Given the description of an element on the screen output the (x, y) to click on. 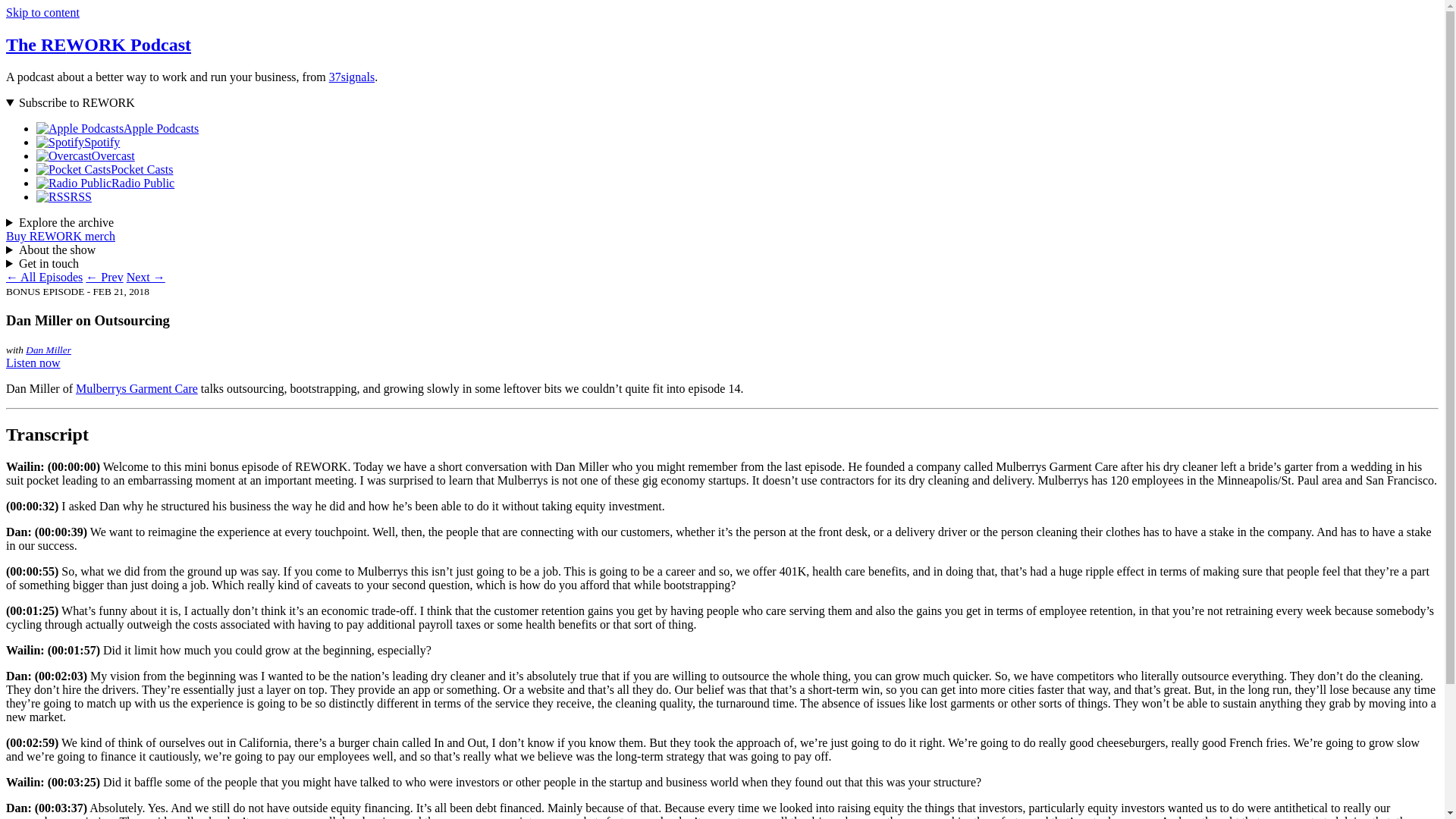
RSS (63, 196)
Spotify (77, 141)
Buy REWORK merch (60, 236)
Mulberrys Garment Care (136, 388)
The REWORK Podcast (97, 44)
Apple Podcasts (117, 128)
Overcast (85, 155)
Skip to content (42, 11)
Radio Public (105, 182)
Listen now (33, 362)
Pocket Casts (104, 169)
37signals (351, 76)
Dan Miller (48, 349)
